Given the description of an element on the screen output the (x, y) to click on. 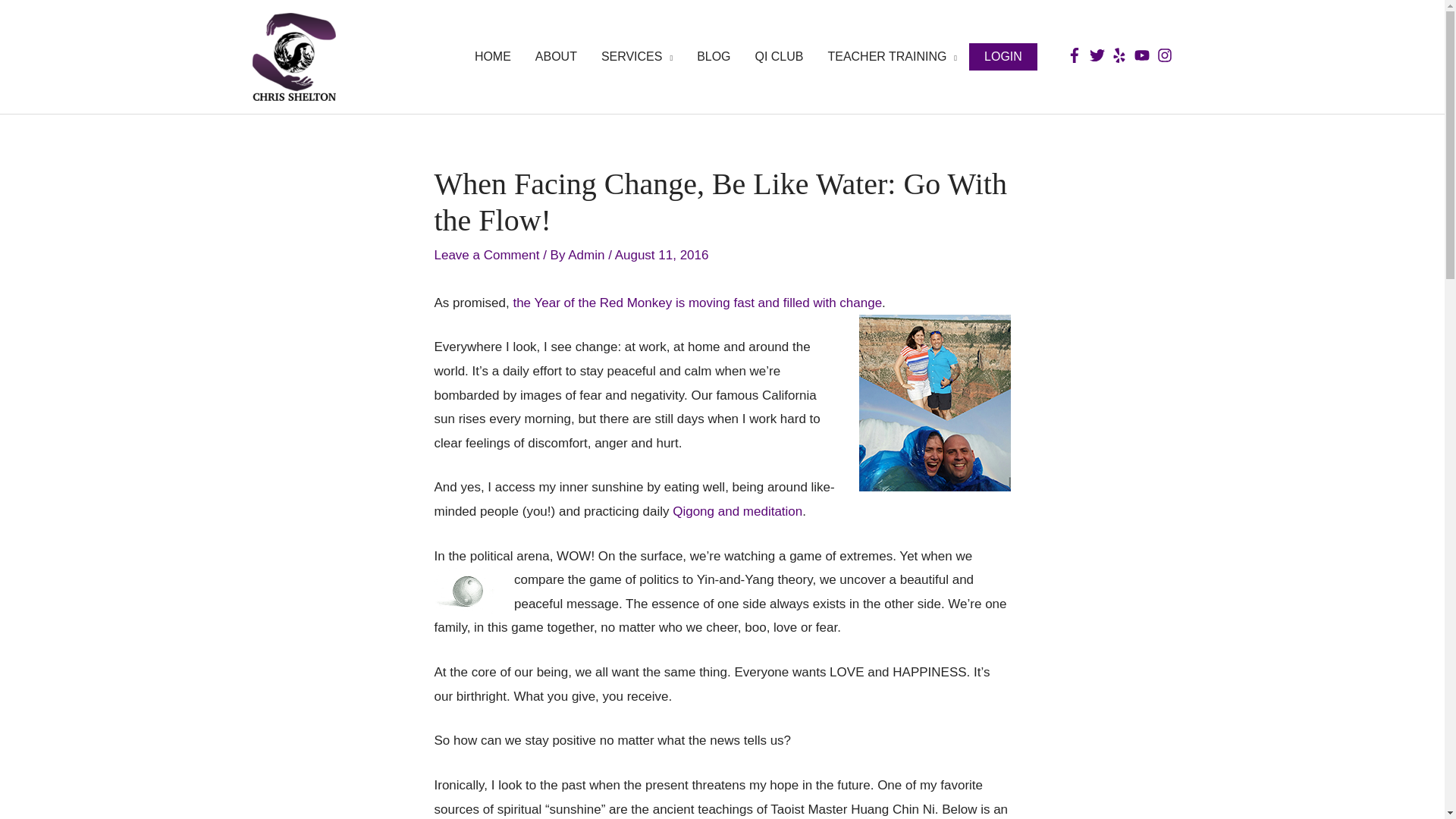
Qigong and meditation (737, 511)
TEACHER TRAINING (892, 56)
Admin (587, 255)
LOGIN (1002, 56)
View all posts by Admin (587, 255)
Leave a Comment (485, 255)
